Given the description of an element on the screen output the (x, y) to click on. 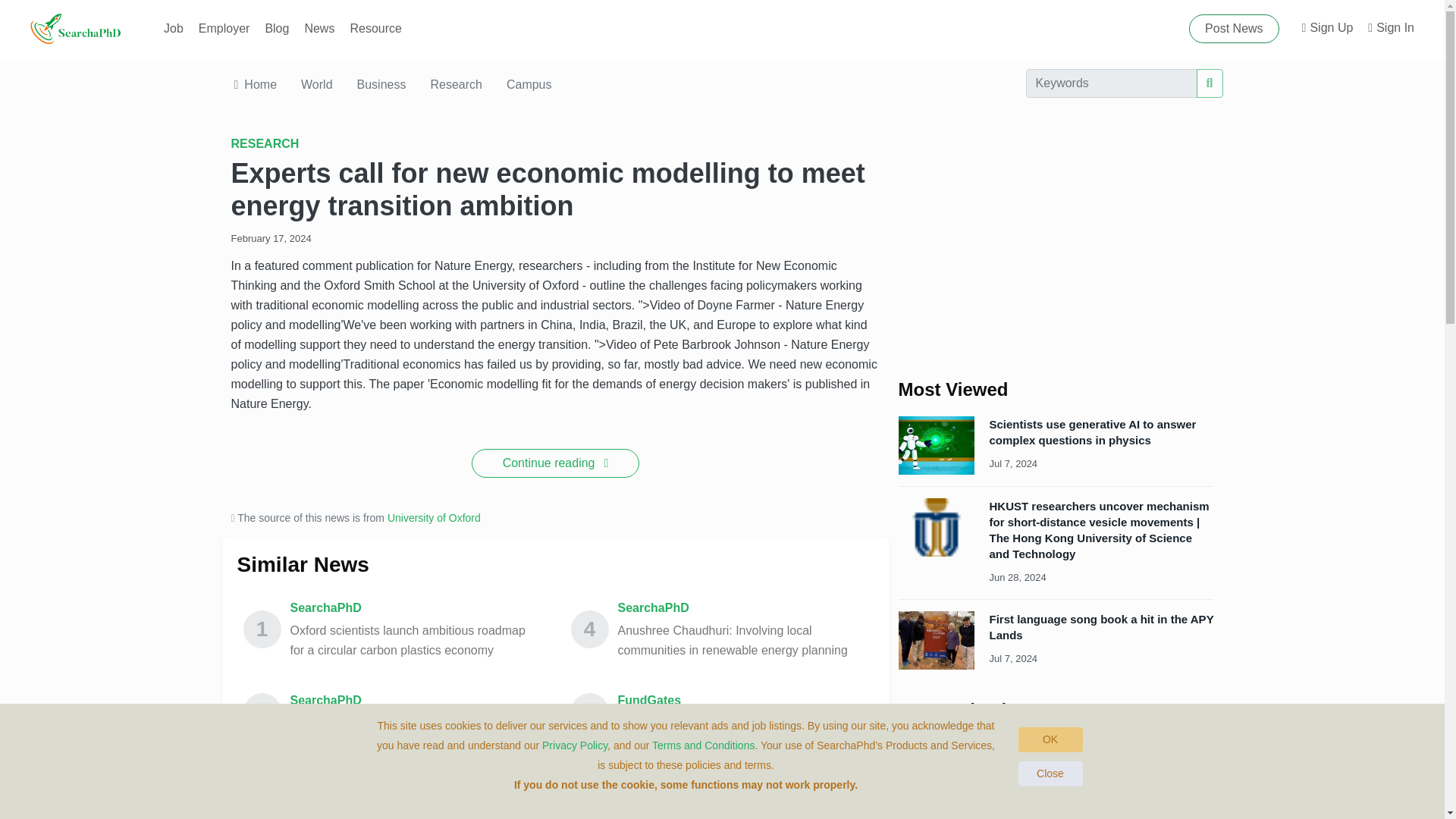
July 18, 2024 (1038, 772)
Post News (1233, 28)
FundGates (742, 772)
SearchaPhD (414, 608)
Continue reading (555, 462)
University of Oxford (433, 517)
First language song book a hit in the APY Lands (1100, 626)
Sign Up (1327, 28)
FundGates (737, 700)
Sign In (1390, 28)
Job (392, 82)
Meeting the clean energy needs of tomorrow (172, 28)
SearchaPhD (737, 723)
